Given the description of an element on the screen output the (x, y) to click on. 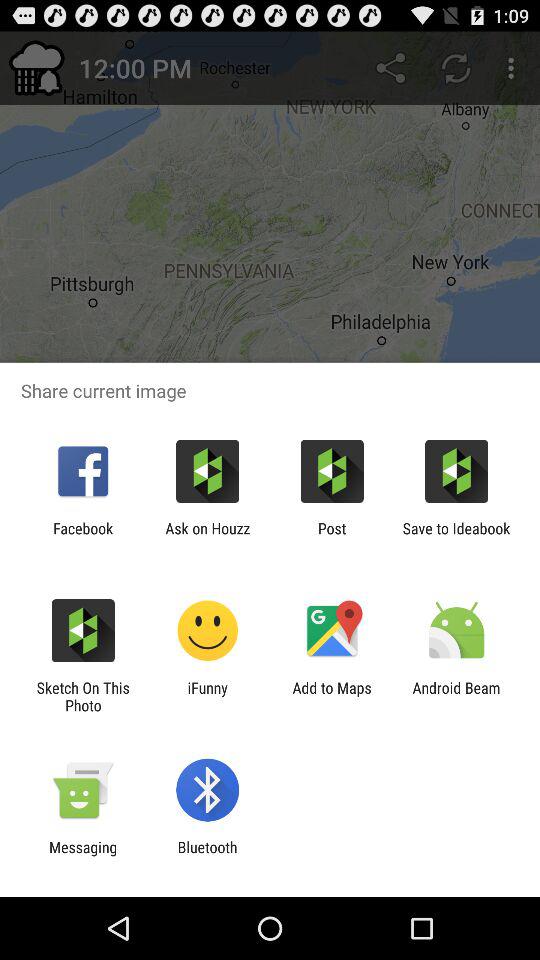
tap the android beam (456, 696)
